Given the description of an element on the screen output the (x, y) to click on. 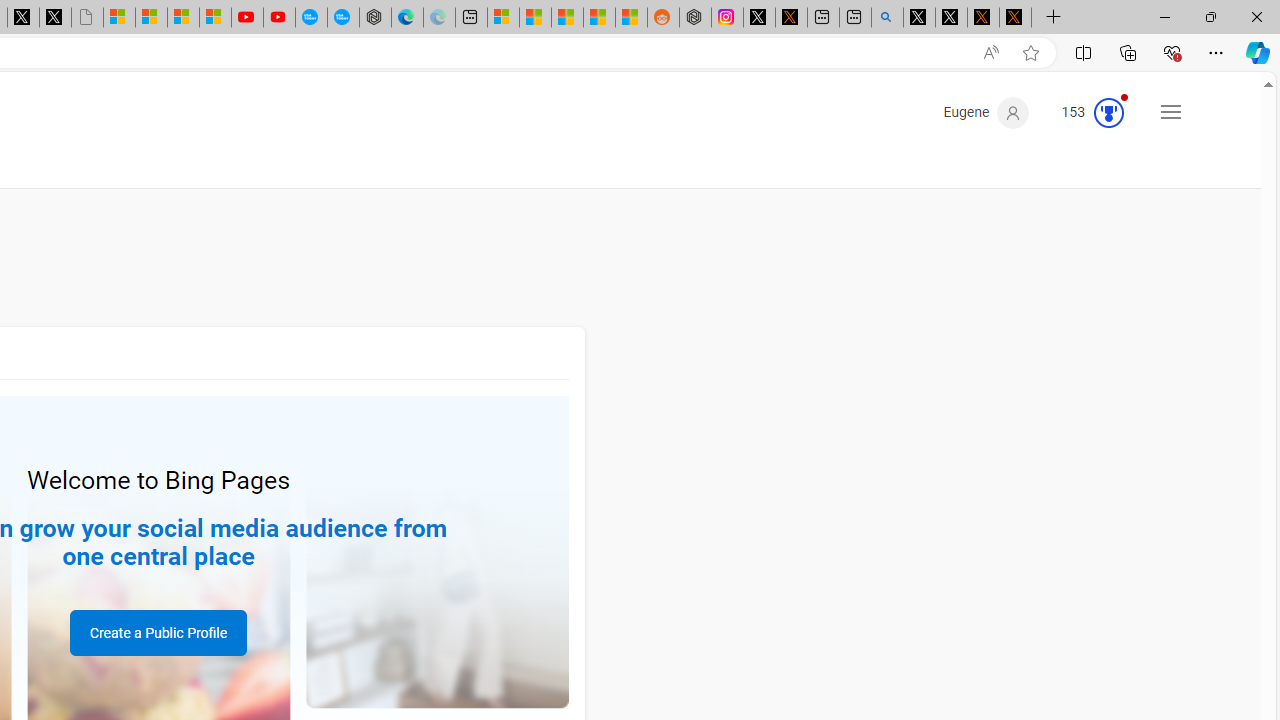
Class: medal-circled (1109, 112)
Untitled (87, 17)
Shanghai, China Weather trends | Microsoft Weather (630, 17)
GitHub (@github) / X (950, 17)
Eugene (986, 112)
